Given the description of an element on the screen output the (x, y) to click on. 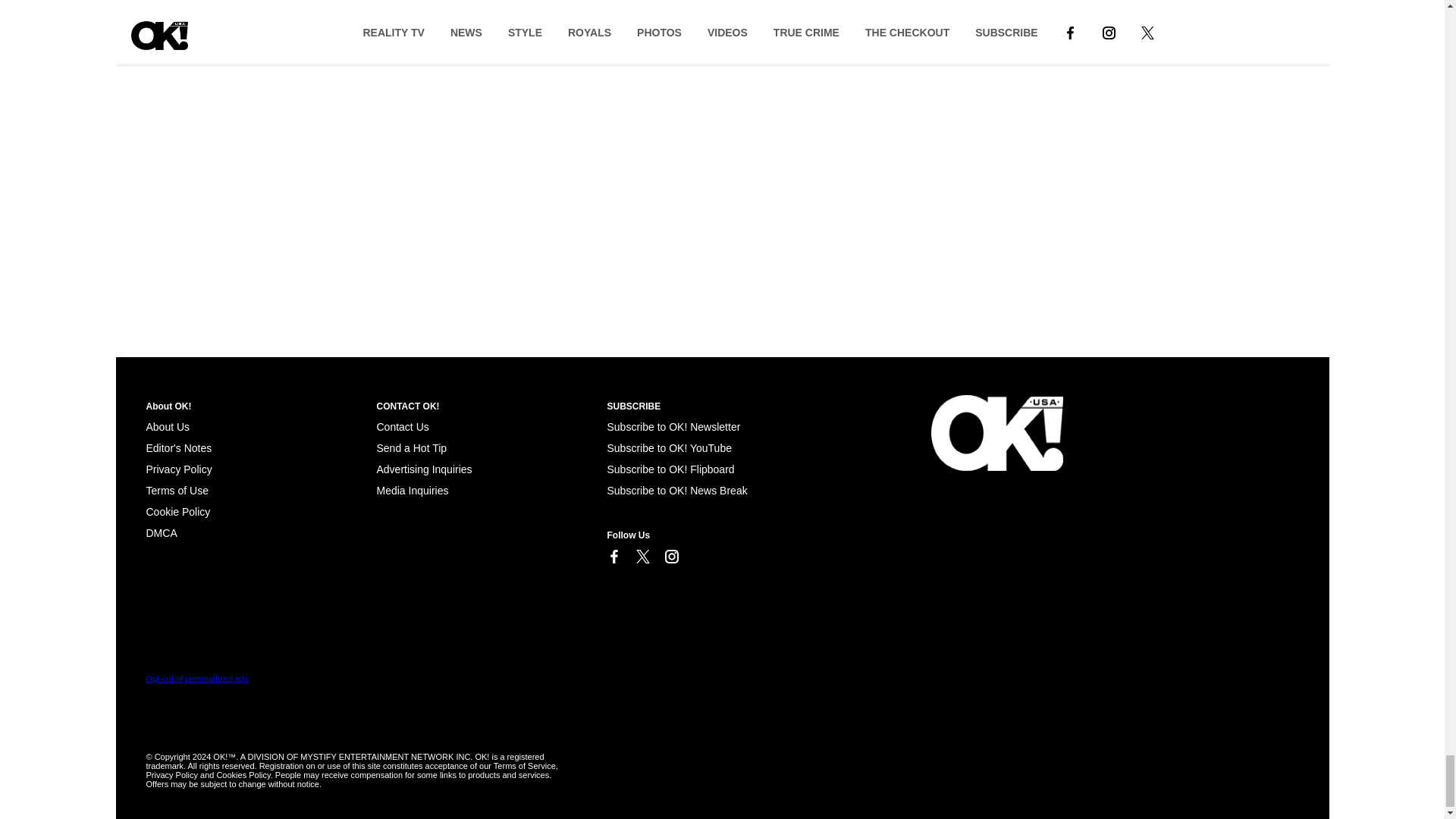
About Us (167, 426)
Cookie Policy (177, 511)
Editor's Notes (178, 448)
Send a Hot Tip (410, 448)
Link to Instagram (670, 556)
Media Inquiries (411, 490)
Cookie Policy (160, 532)
Privacy Policy (178, 469)
Link to X (641, 556)
Contact Us (401, 426)
